Given the description of an element on the screen output the (x, y) to click on. 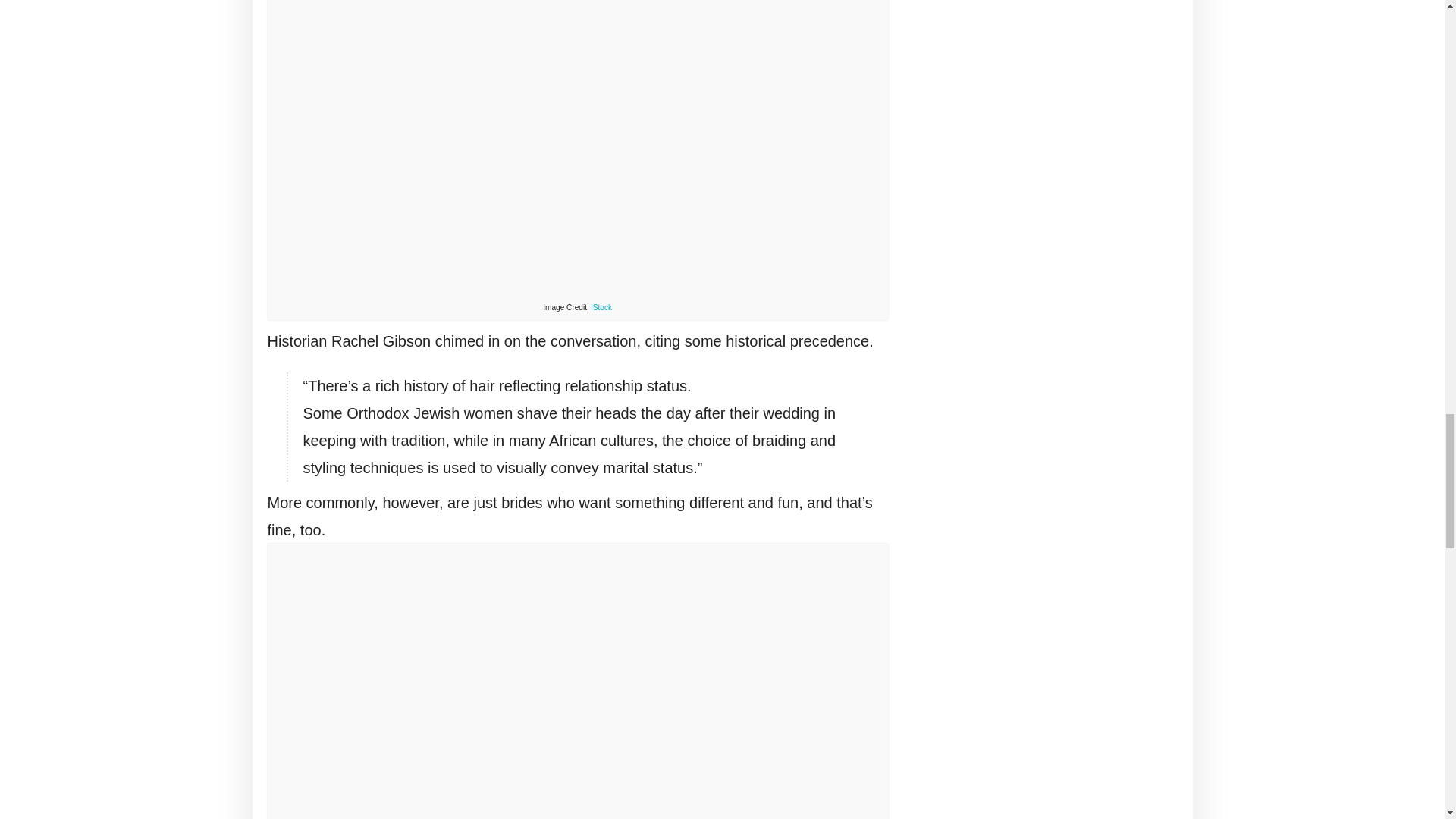
iStock (601, 307)
